Given the description of an element on the screen output the (x, y) to click on. 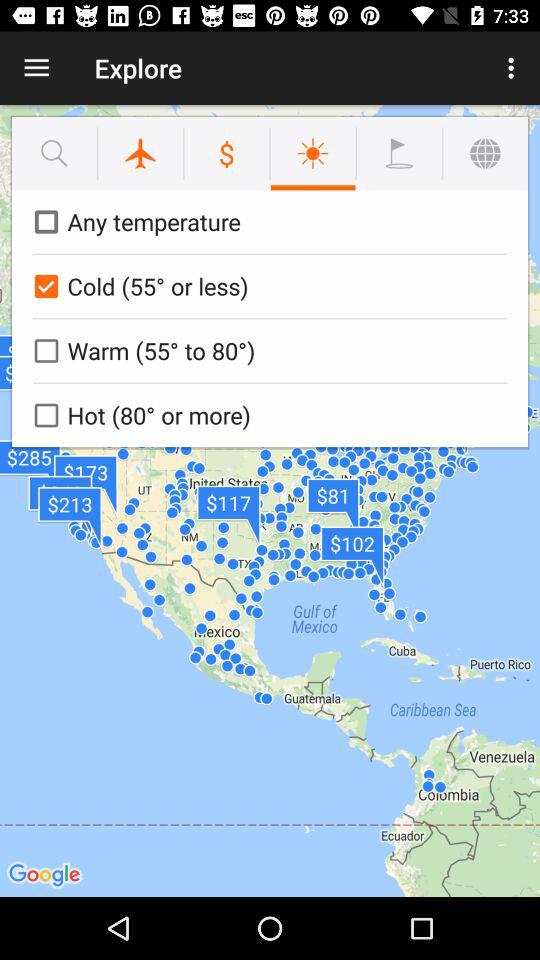
click the item to the right of the explore item (513, 67)
